Given the description of an element on the screen output the (x, y) to click on. 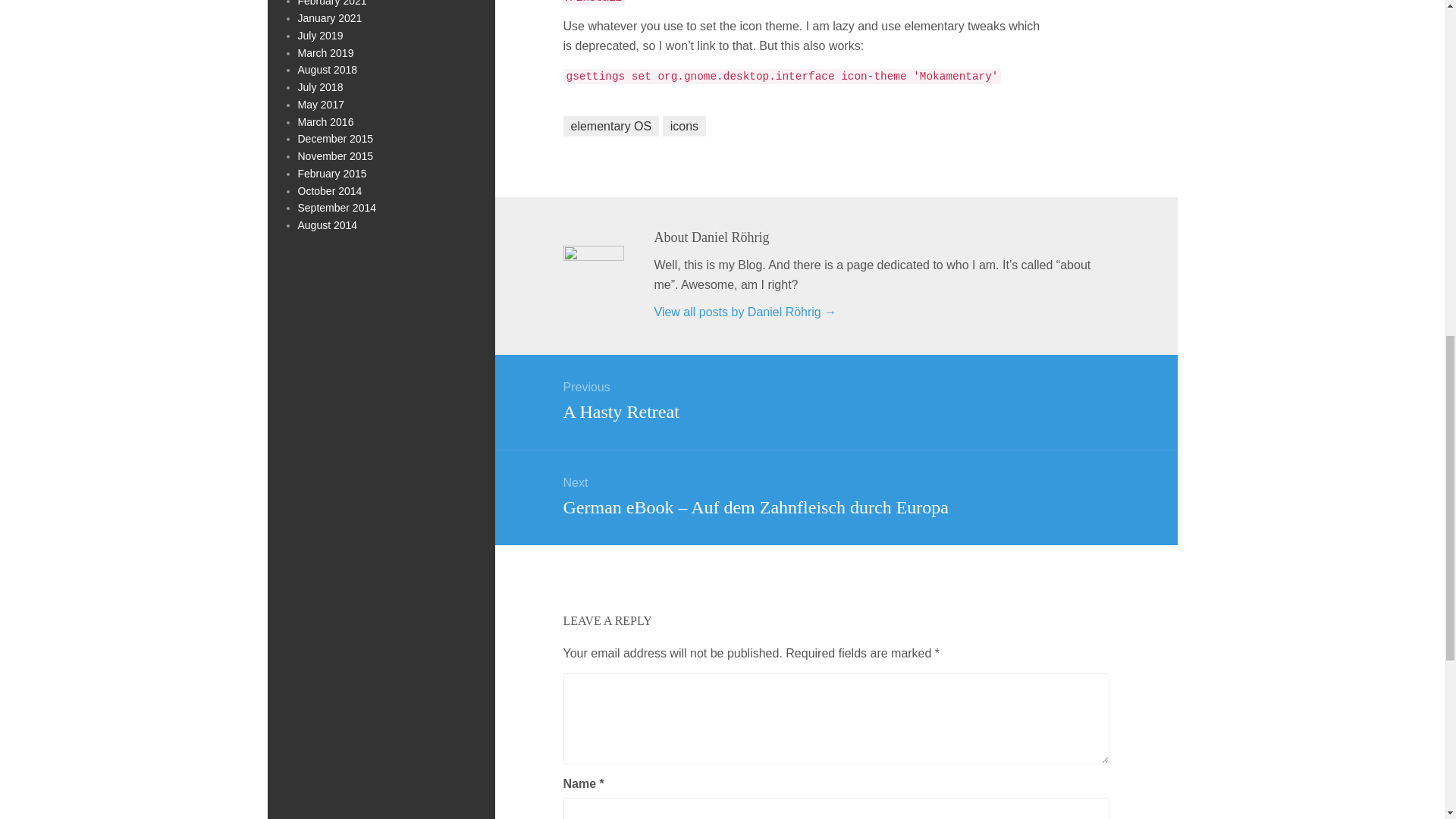
August 2018 (326, 69)
September 2014 (336, 207)
October 2014 (329, 191)
July 2019 (319, 35)
March 2019 (325, 52)
December 2015 (334, 138)
March 2016 (325, 121)
November 2015 (334, 155)
May 2017 (320, 104)
February 2015 (331, 173)
